Given the description of an element on the screen output the (x, y) to click on. 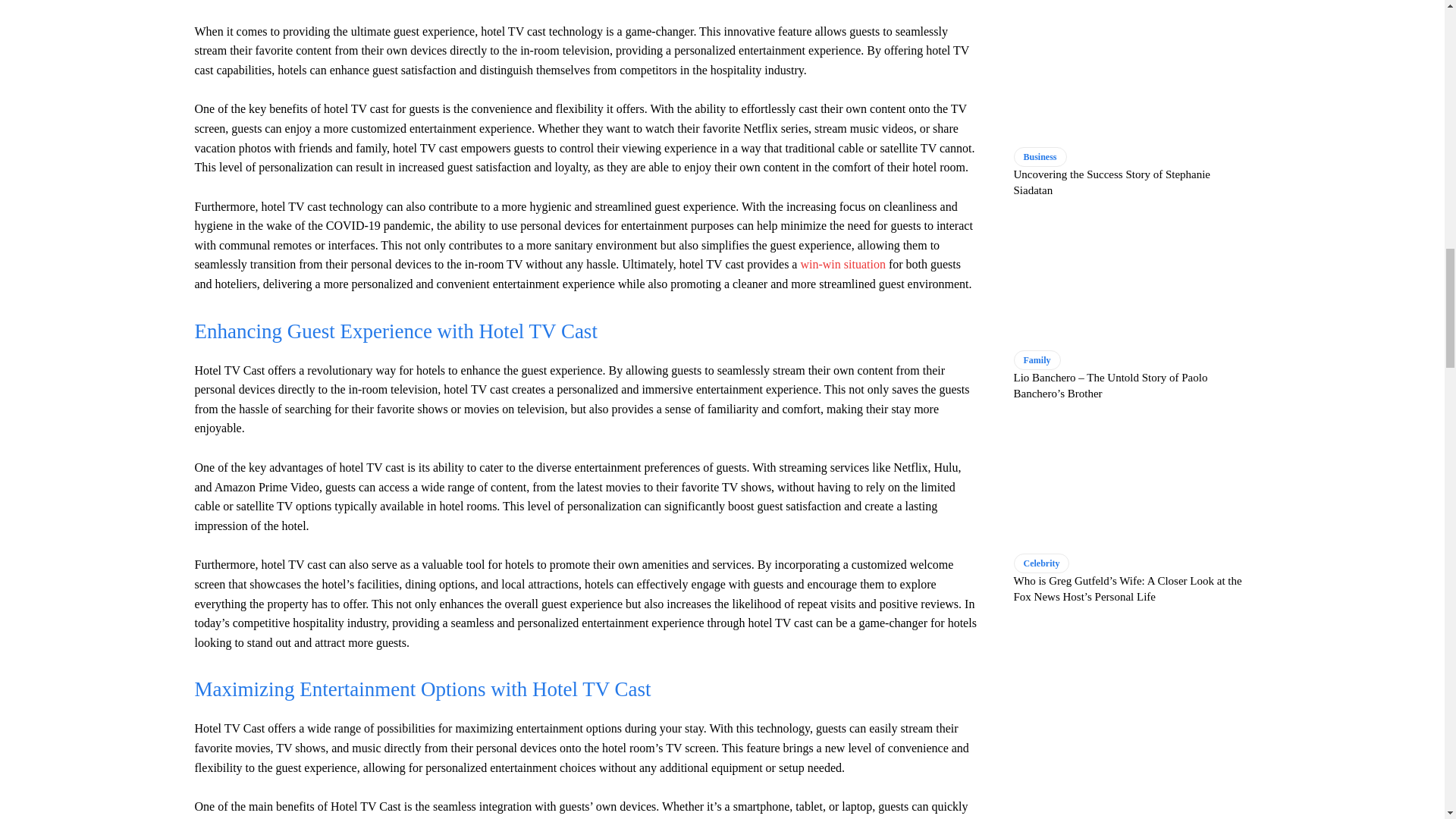
Exploring the History of Masonic Home of Virginia (842, 264)
